Given the description of an element on the screen output the (x, y) to click on. 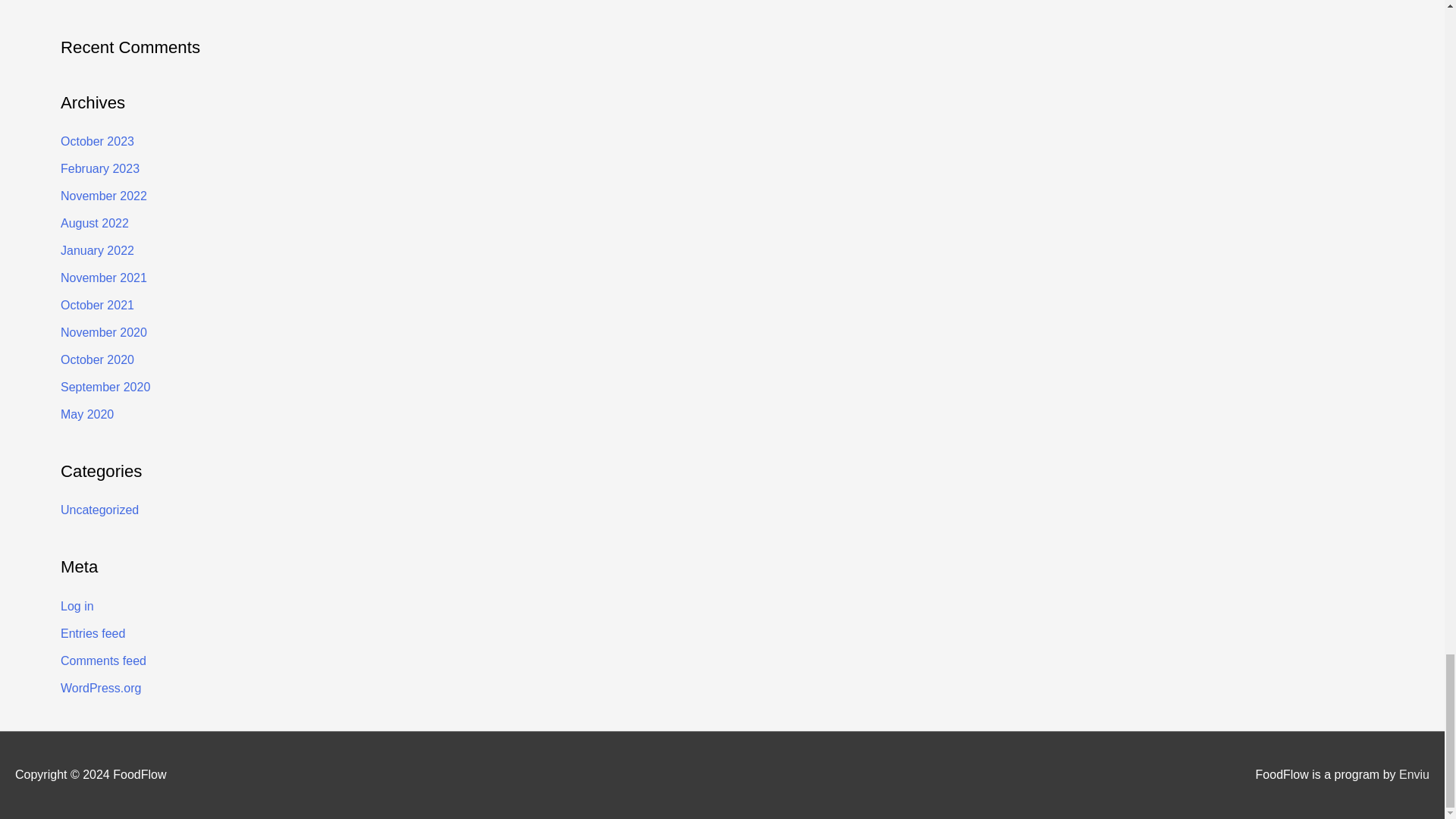
August 2022 (95, 223)
November 2022 (104, 195)
October 2023 (97, 141)
November 2021 (104, 277)
January 2022 (97, 250)
February 2023 (100, 168)
